Given the description of an element on the screen output the (x, y) to click on. 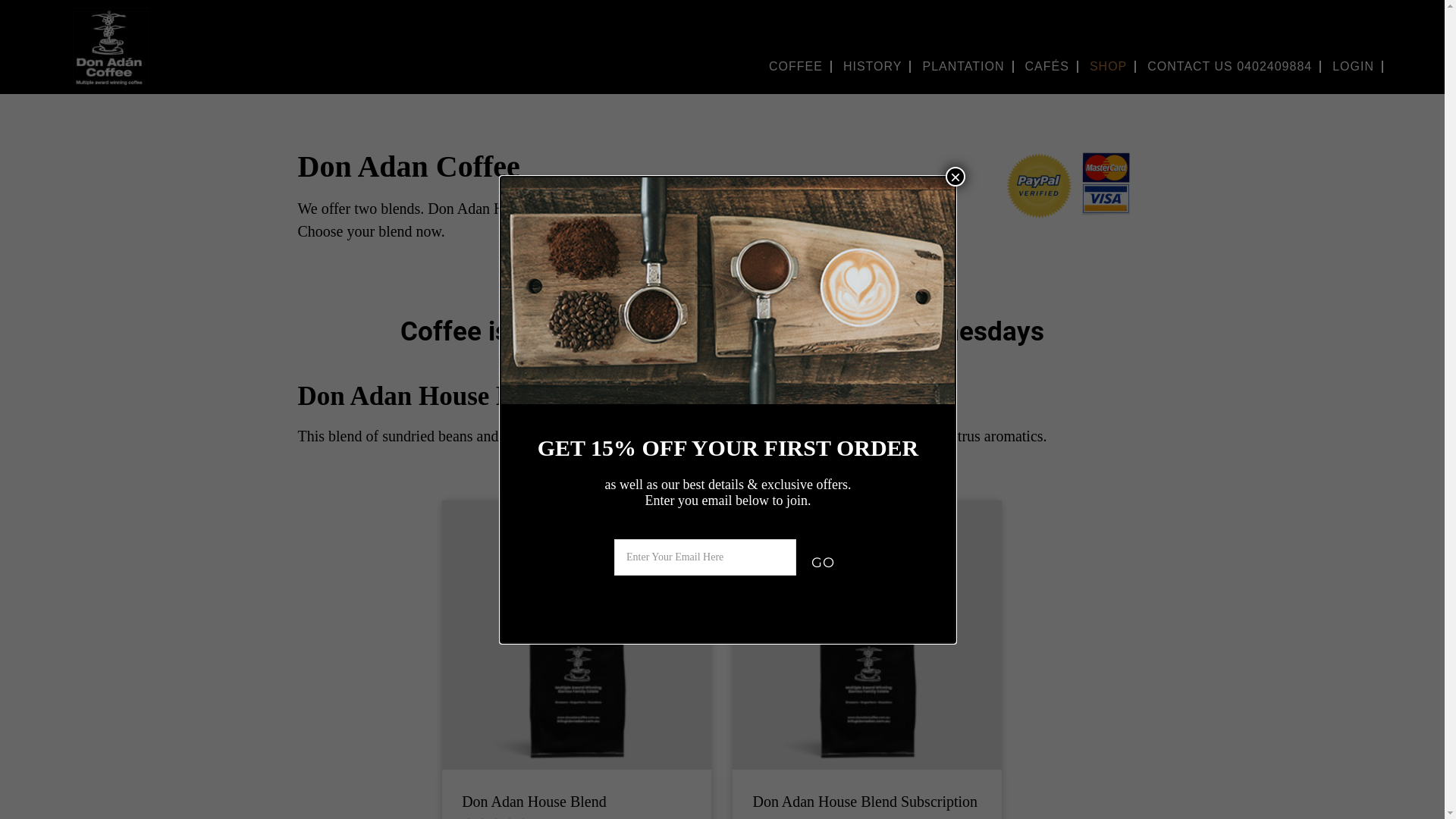
GO Element type: text (823, 561)
CONTACT US 0402409884 Element type: text (1229, 66)
LOGIN Element type: text (1352, 66)
PLANTATION Element type: text (962, 66)
COFFEE Element type: text (795, 66)
SHOP Element type: text (1108, 66)
HISTORY Element type: text (872, 66)
